Given the description of an element on the screen output the (x, y) to click on. 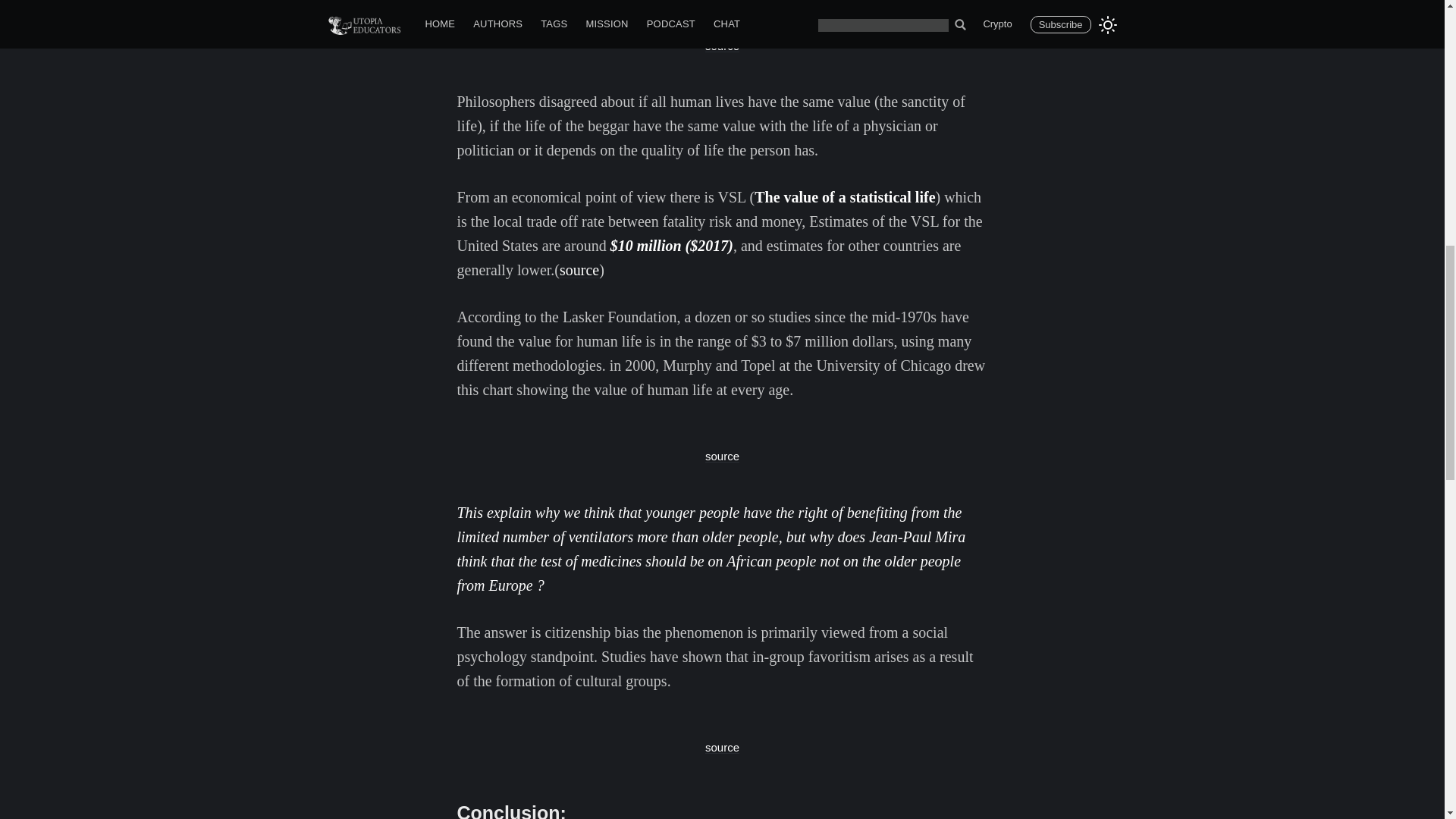
source (721, 747)
source (578, 269)
source (721, 45)
source (721, 455)
